Given the description of an element on the screen output the (x, y) to click on. 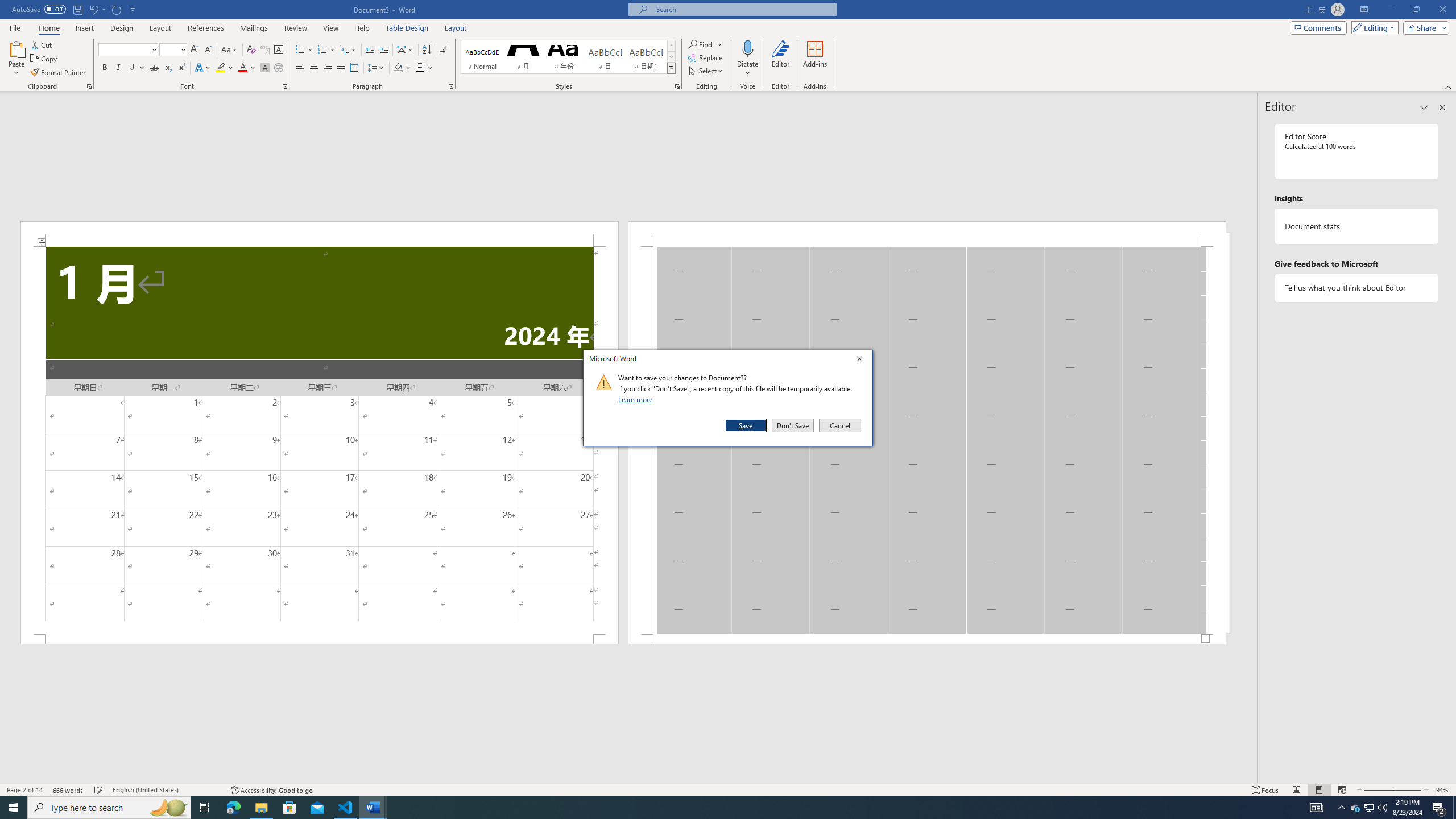
Font... (285, 85)
Type here to search (108, 807)
User Promoted Notification Area (1368, 807)
Decrease Indent (370, 49)
Grow Font (193, 49)
Bold (104, 67)
Repeat Style (117, 9)
Show/Hide Editing Marks (444, 49)
